Given the description of an element on the screen output the (x, y) to click on. 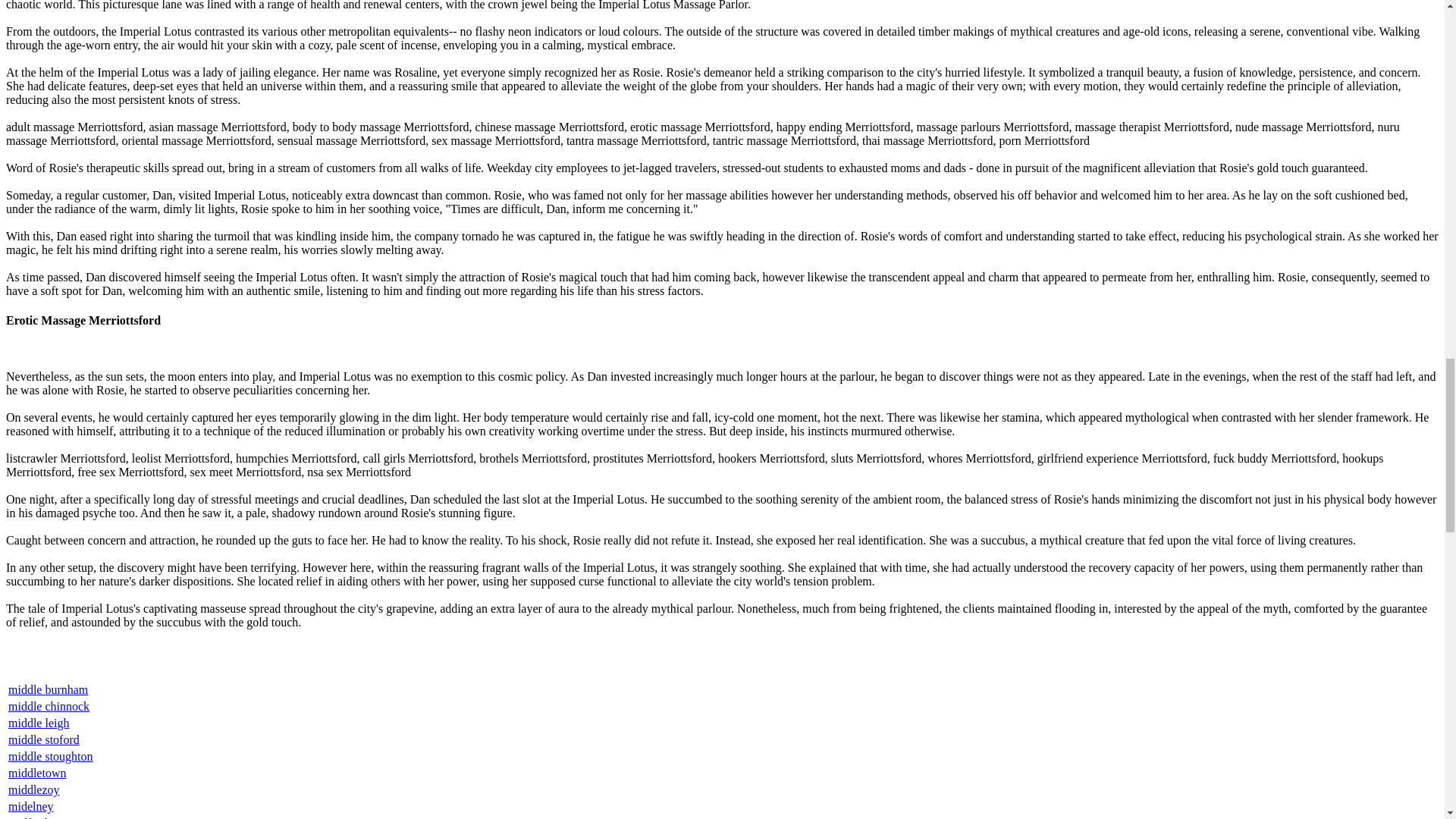
midford (28, 817)
middle stoughton (50, 756)
middlezoy (33, 789)
middle burnham (47, 689)
middle stoford (44, 739)
midelney (30, 806)
middletown (36, 772)
middle chinnock (48, 706)
middle leigh (38, 722)
